Given the description of an element on the screen output the (x, y) to click on. 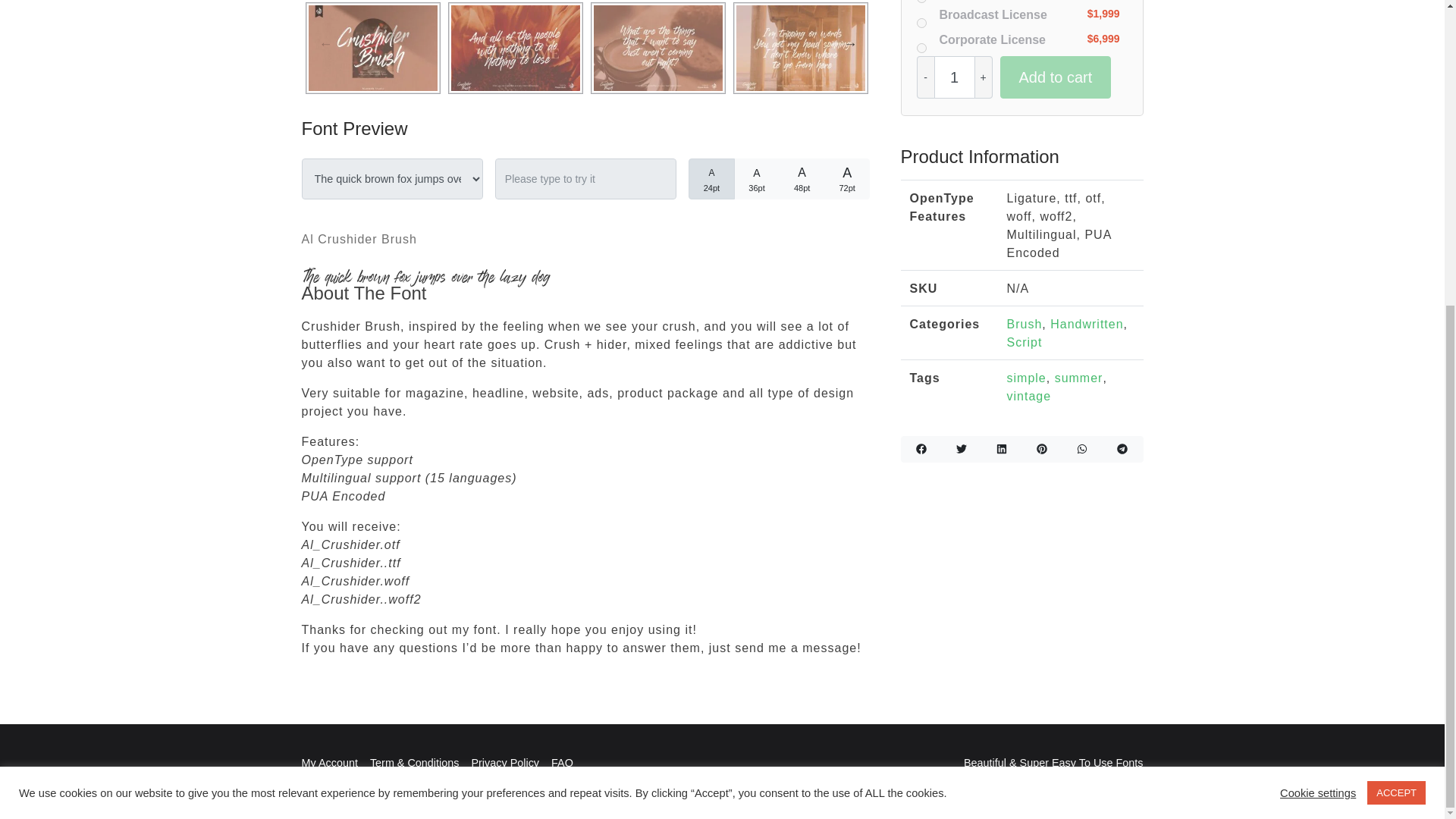
1 (954, 77)
on (921, 48)
64 (807, 168)
48 (762, 168)
on (921, 22)
Next (858, 43)
Previous (306, 43)
32 (715, 168)
96 (852, 168)
